Given the description of an element on the screen output the (x, y) to click on. 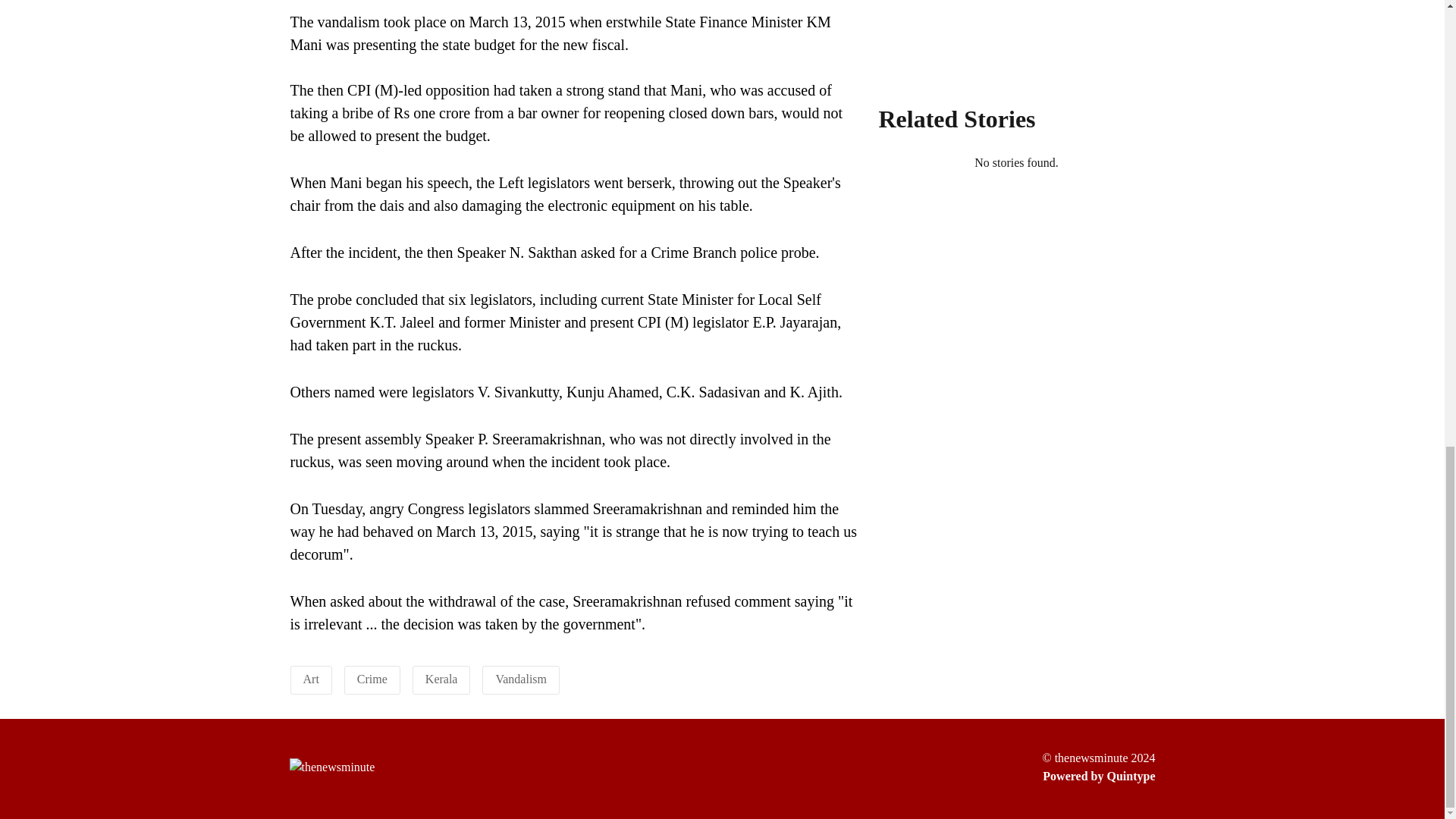
Kerala (441, 678)
Crime (371, 678)
Vandalism (521, 678)
Art (310, 678)
Powered by Quintype (1098, 776)
